Given the description of an element on the screen output the (x, y) to click on. 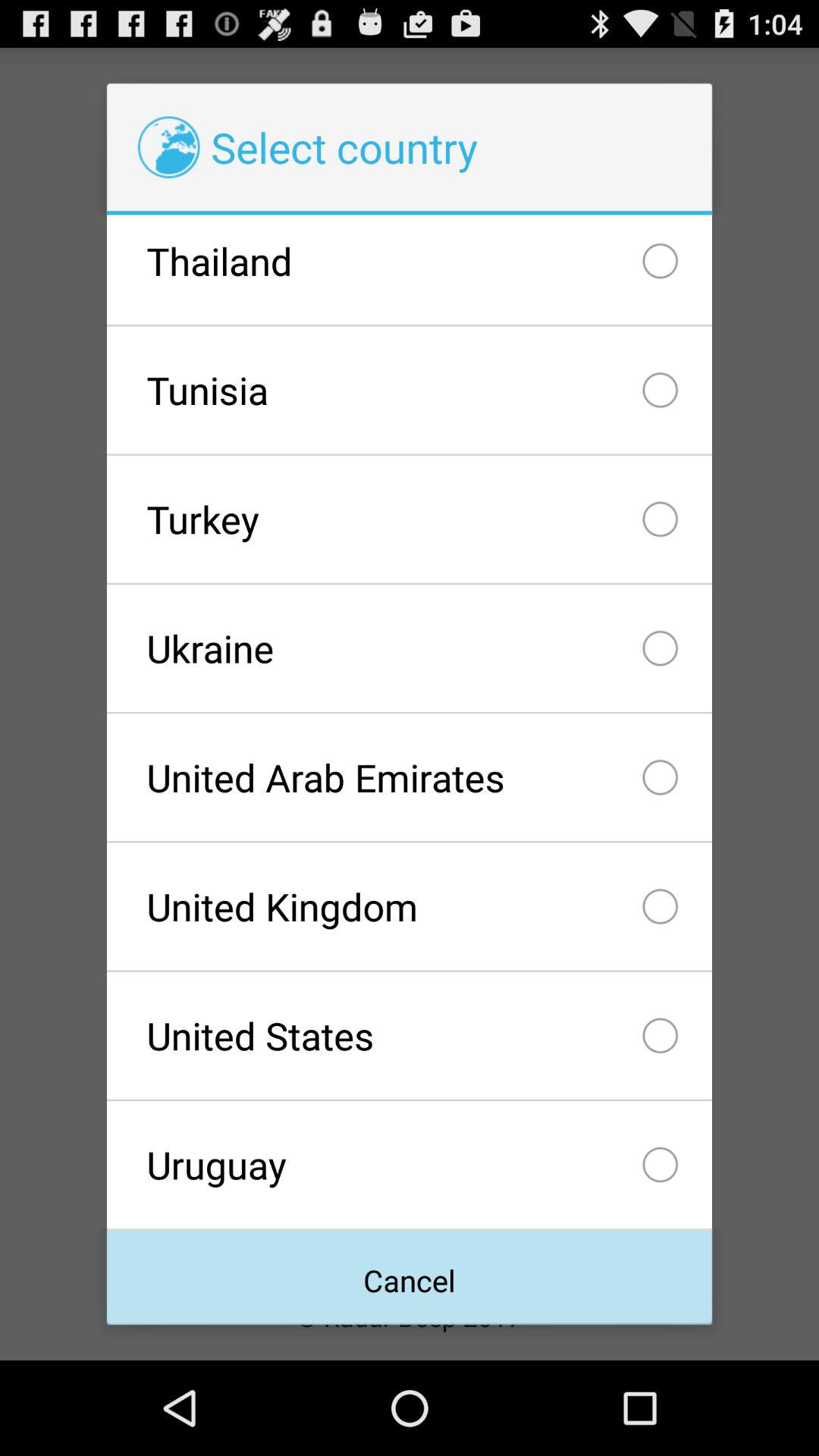
click the icon above the united arab emirates checkbox (409, 648)
